Given the description of an element on the screen output the (x, y) to click on. 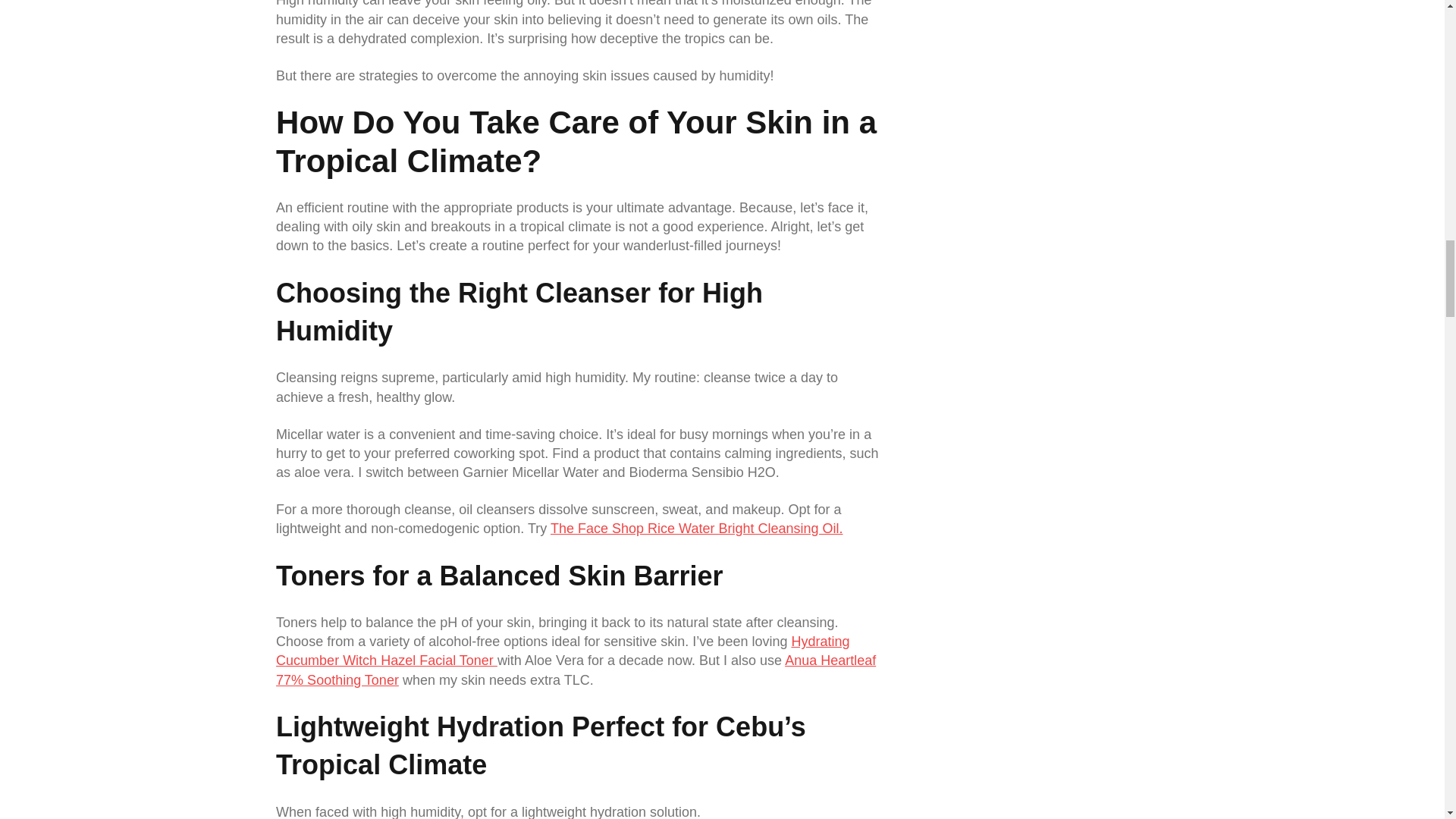
Hydrating Cucumber Witch Hazel Facial Toner (562, 650)
The Face Shop Rice Water Bright Cleansing Oil. (696, 528)
